Given the description of an element on the screen output the (x, y) to click on. 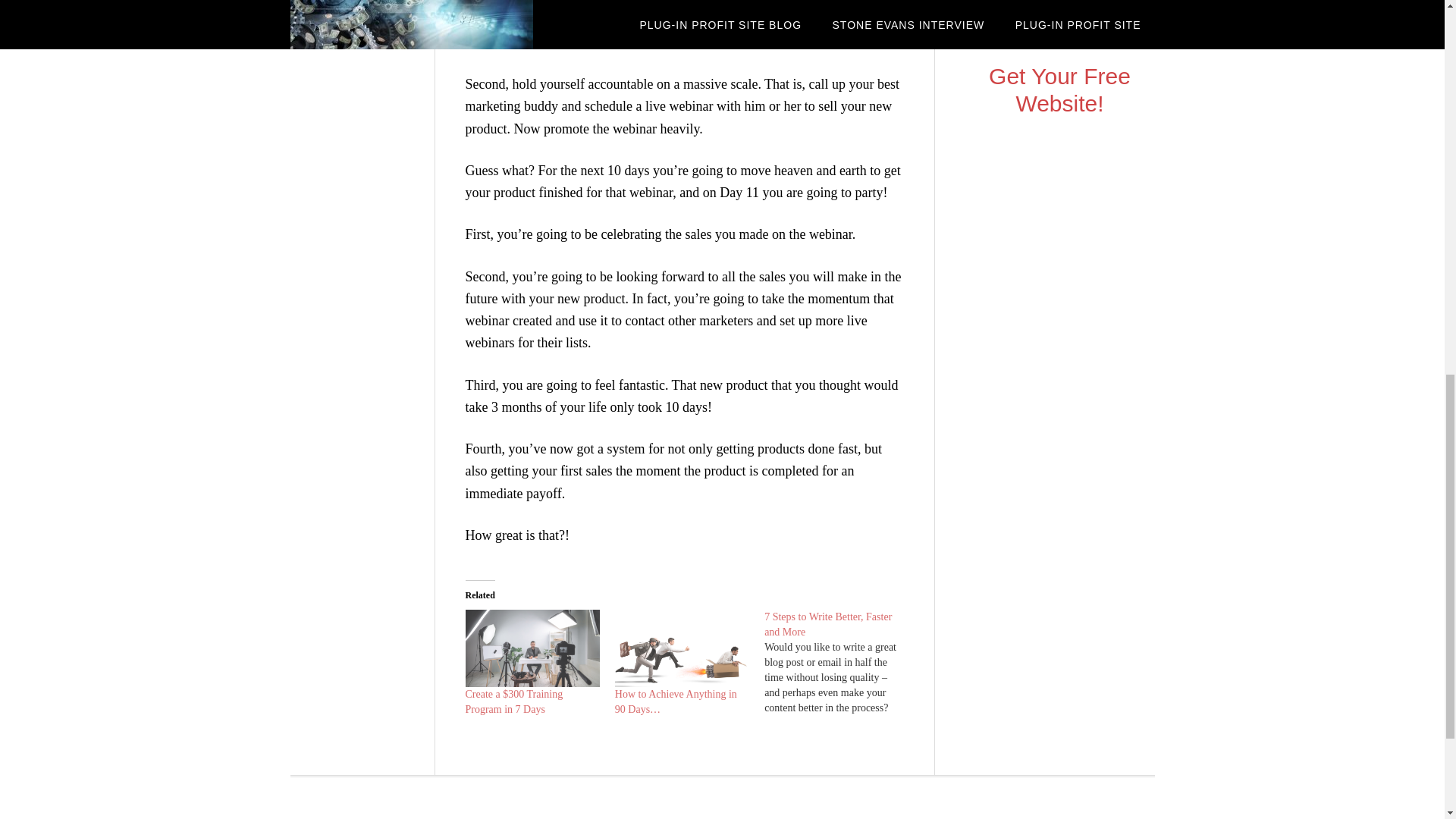
7 Steps to Write Better, Faster and More (827, 624)
Get Your Free Website! (1059, 89)
7 Steps to Write Better, Faster and More (839, 662)
7 Steps to Write Better, Faster and More (827, 624)
